Given the description of an element on the screen output the (x, y) to click on. 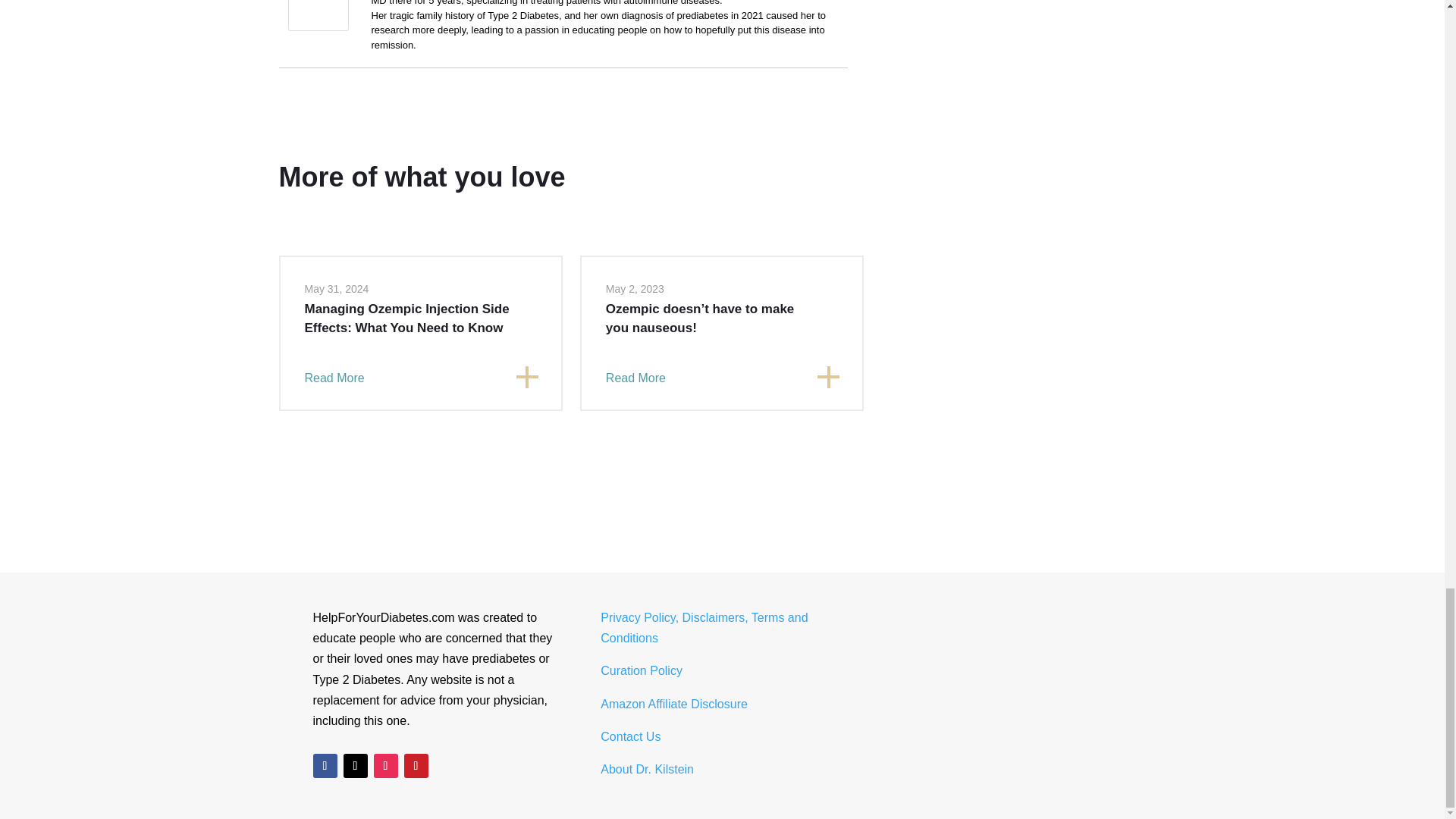
Sherry (318, 26)
